Given the description of an element on the screen output the (x, y) to click on. 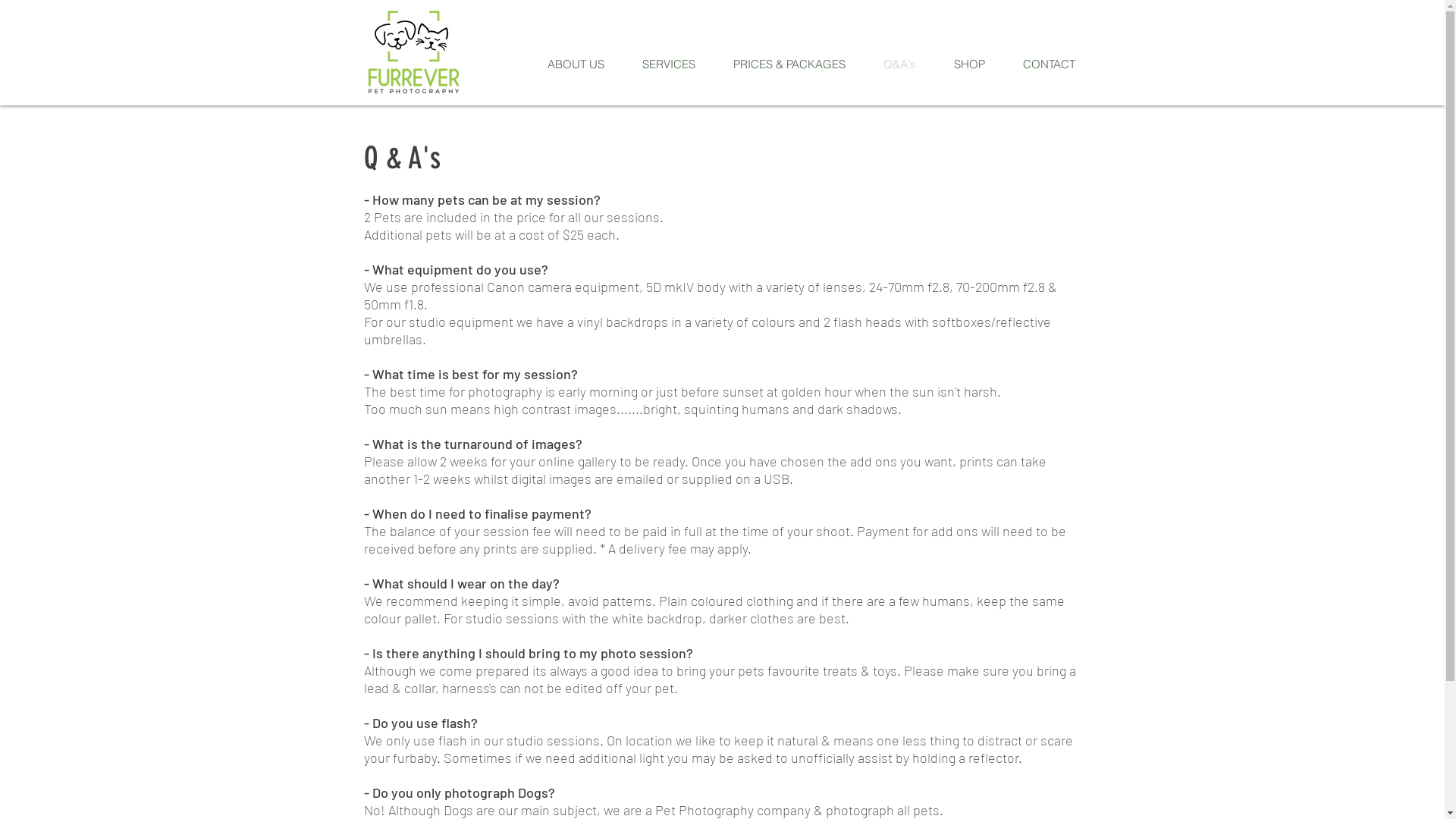
ABOUT US Element type: text (574, 64)
SHOP Element type: text (968, 64)
Q&A's Element type: text (899, 64)
PRICES & PACKAGES Element type: text (789, 64)
CONTACT Element type: text (1049, 64)
